Given the description of an element on the screen output the (x, y) to click on. 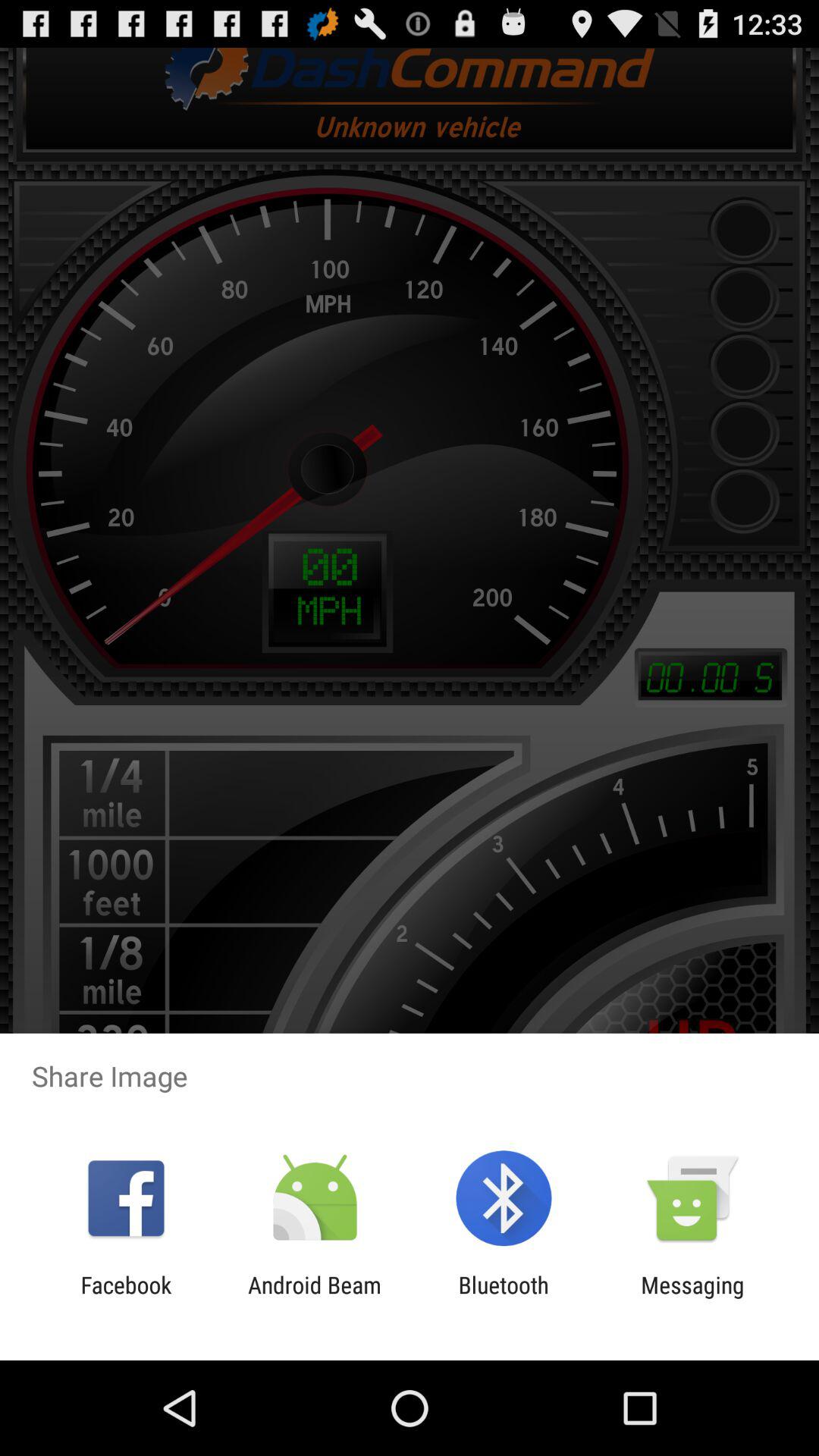
open app to the left of messaging (503, 1298)
